Given the description of an element on the screen output the (x, y) to click on. 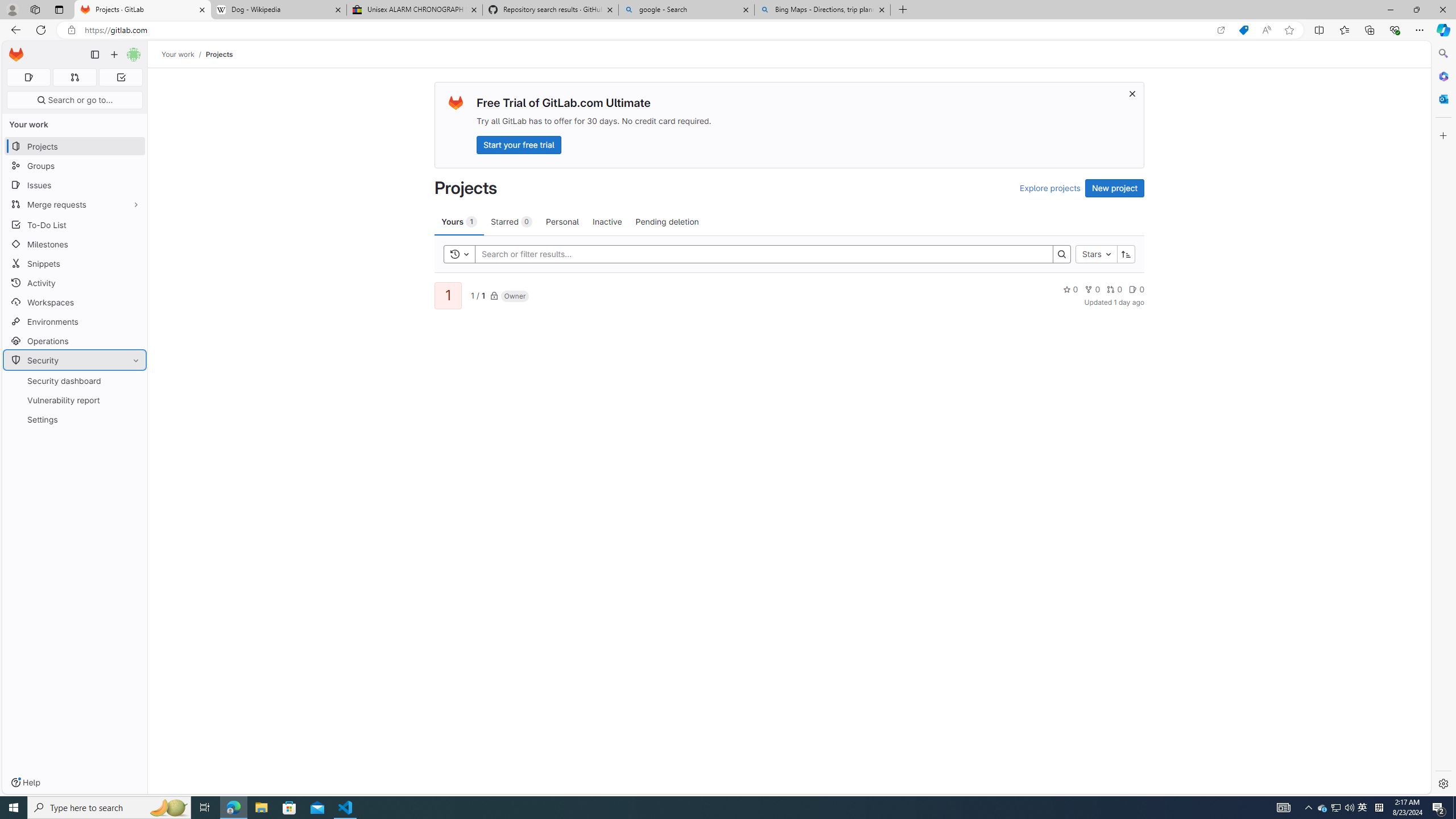
1 (447, 295)
Vulnerability report (74, 399)
Create new... (113, 54)
To-Do List (74, 224)
Class: s16 gl-icon gl-button-icon  (1132, 93)
Groups (74, 165)
0 (1136, 288)
Explore projects (1049, 187)
Environments (74, 321)
